Given the description of an element on the screen output the (x, y) to click on. 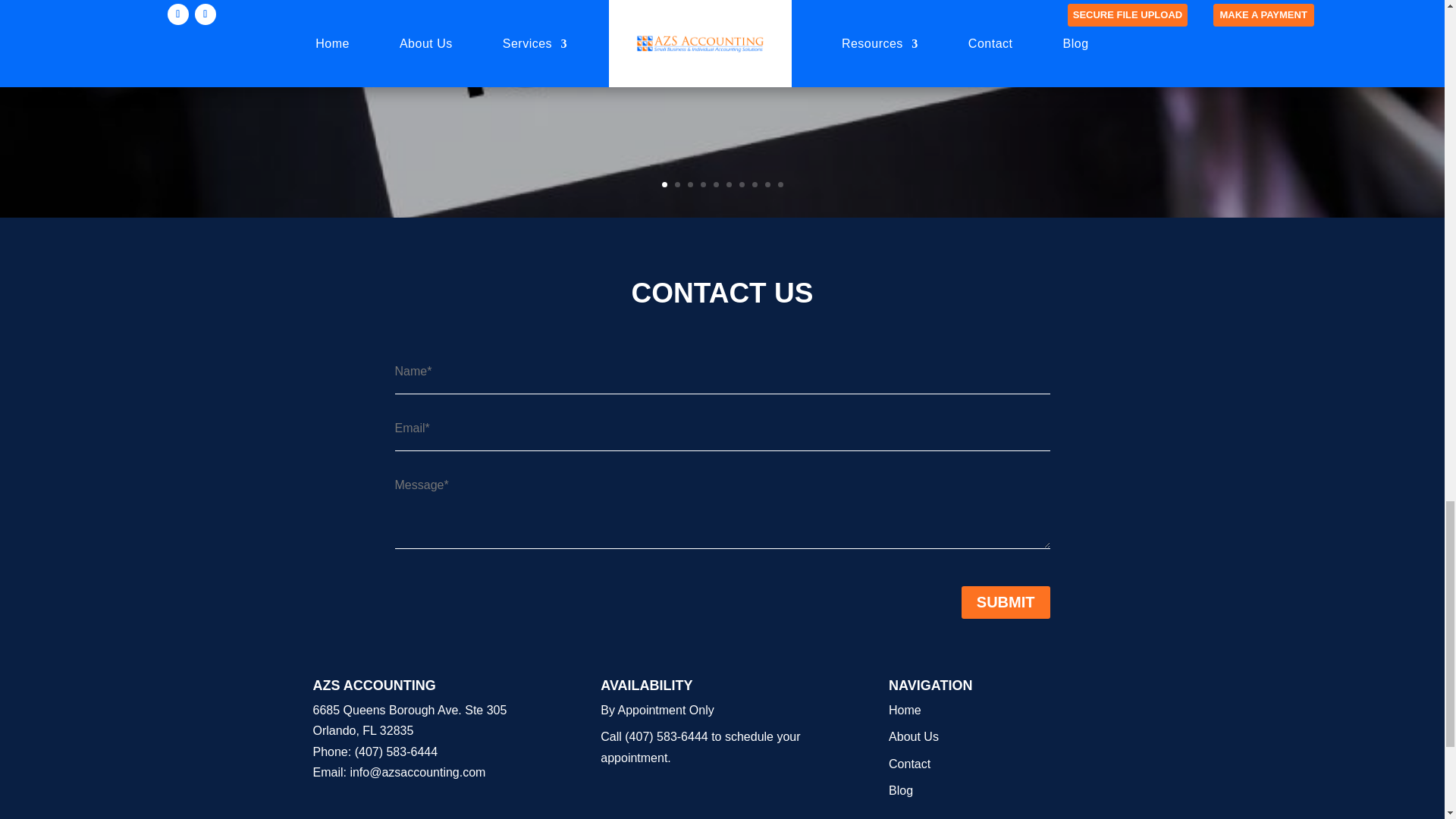
Submit (1004, 602)
